Given the description of an element on the screen output the (x, y) to click on. 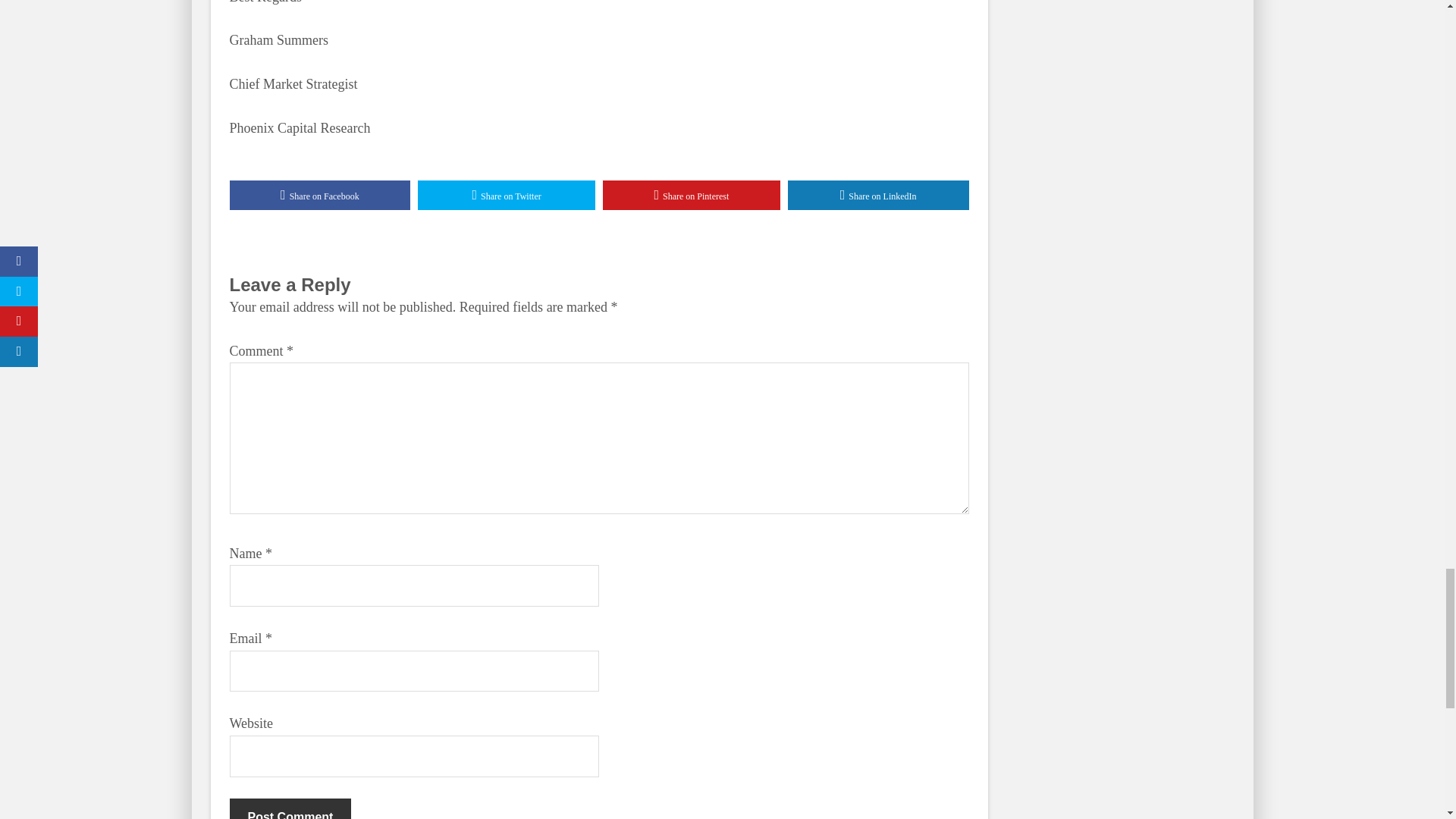
Post Comment (289, 808)
